Given the description of an element on the screen output the (x, y) to click on. 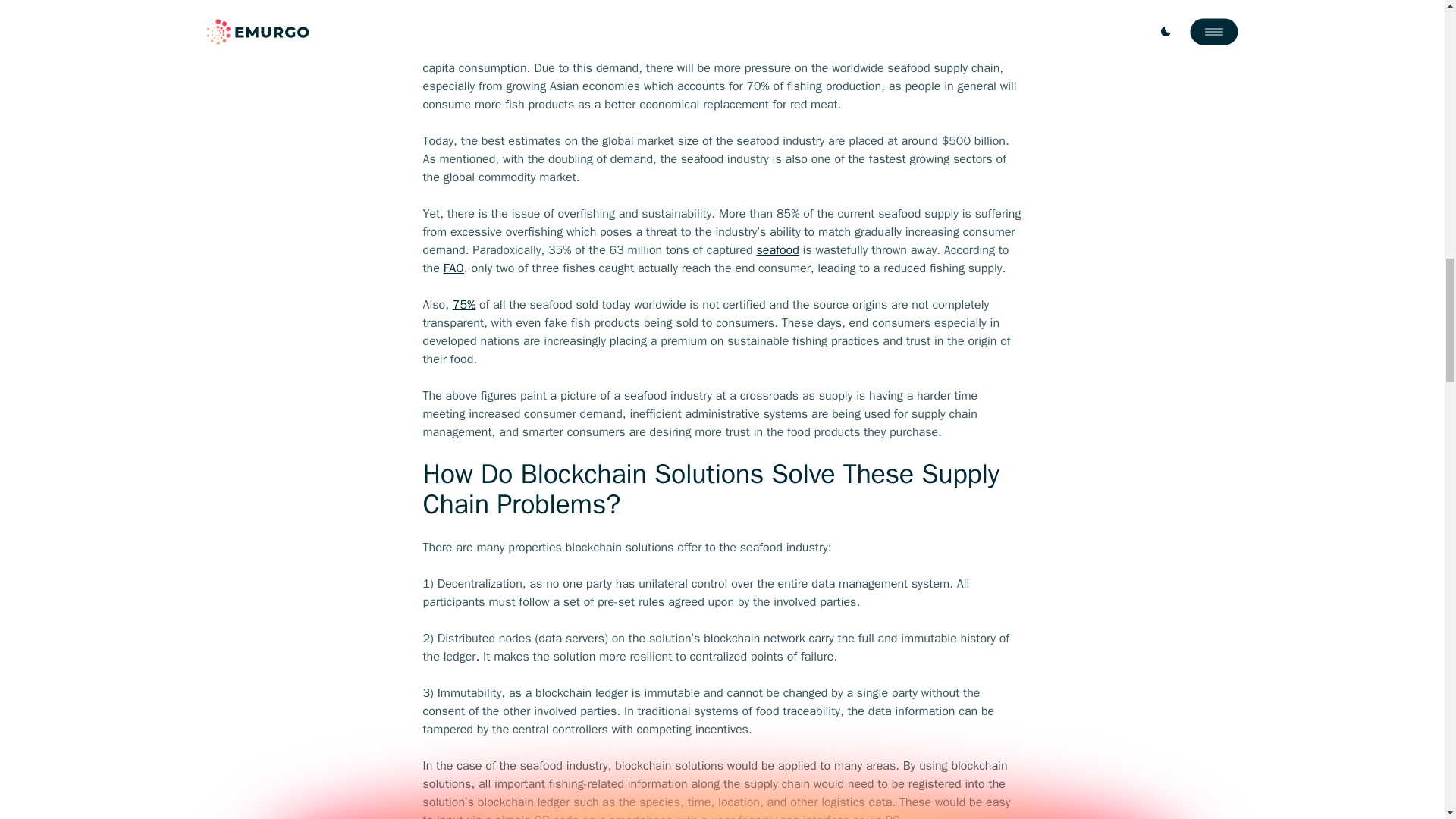
seafood (778, 249)
FAO (454, 268)
double (778, 49)
